Given the description of an element on the screen output the (x, y) to click on. 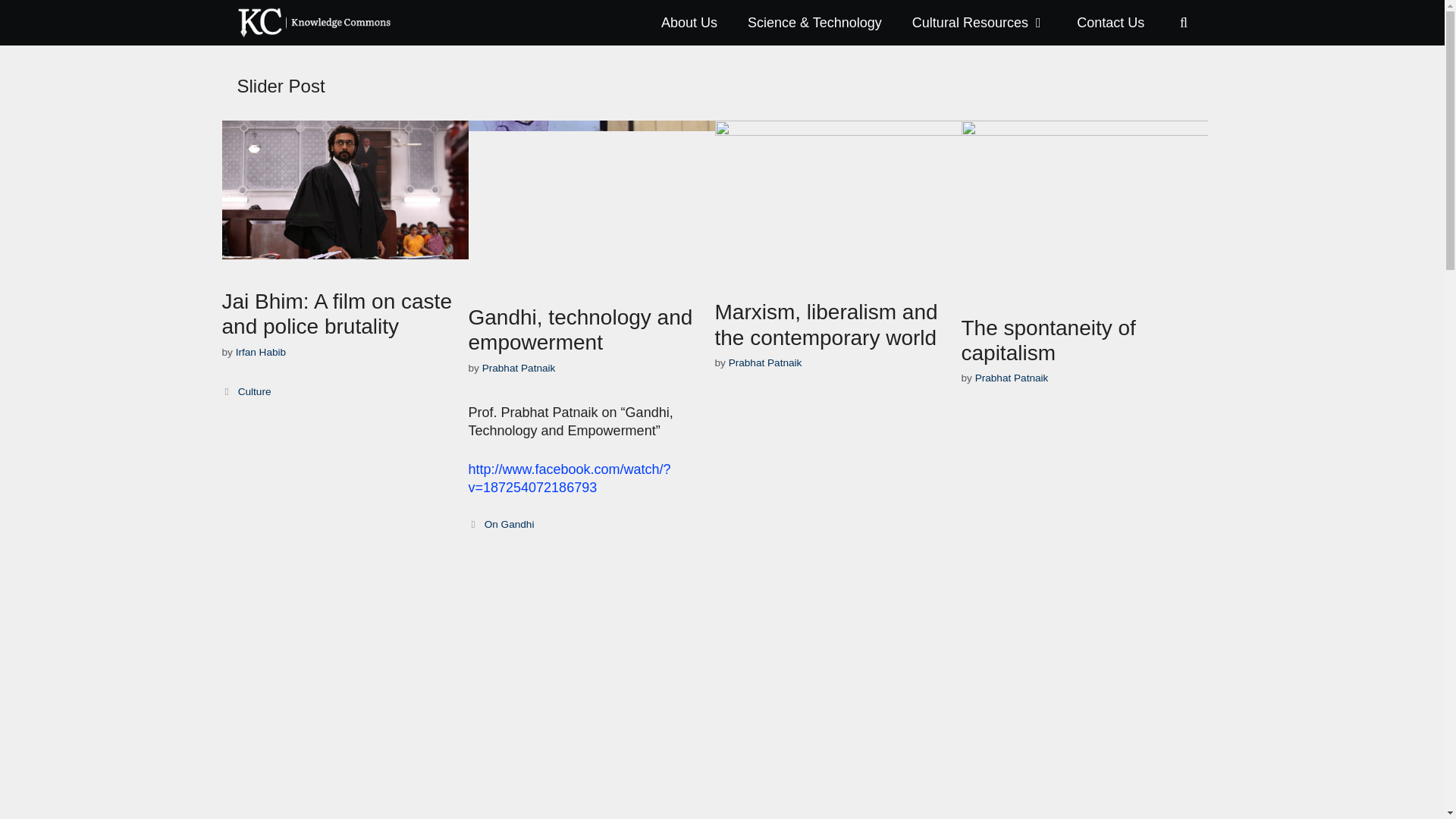
On Gandhi (509, 523)
Contact Us (1109, 22)
Prabhat Patnaik (765, 362)
View all posts by Prabhat Patnaik (765, 362)
About Us (689, 22)
Knowledge Commons (316, 22)
Culture (254, 391)
Knowledge Commons (312, 22)
Prabhat Patnaik (1011, 378)
Cultural Resources (978, 22)
